Given the description of an element on the screen output the (x, y) to click on. 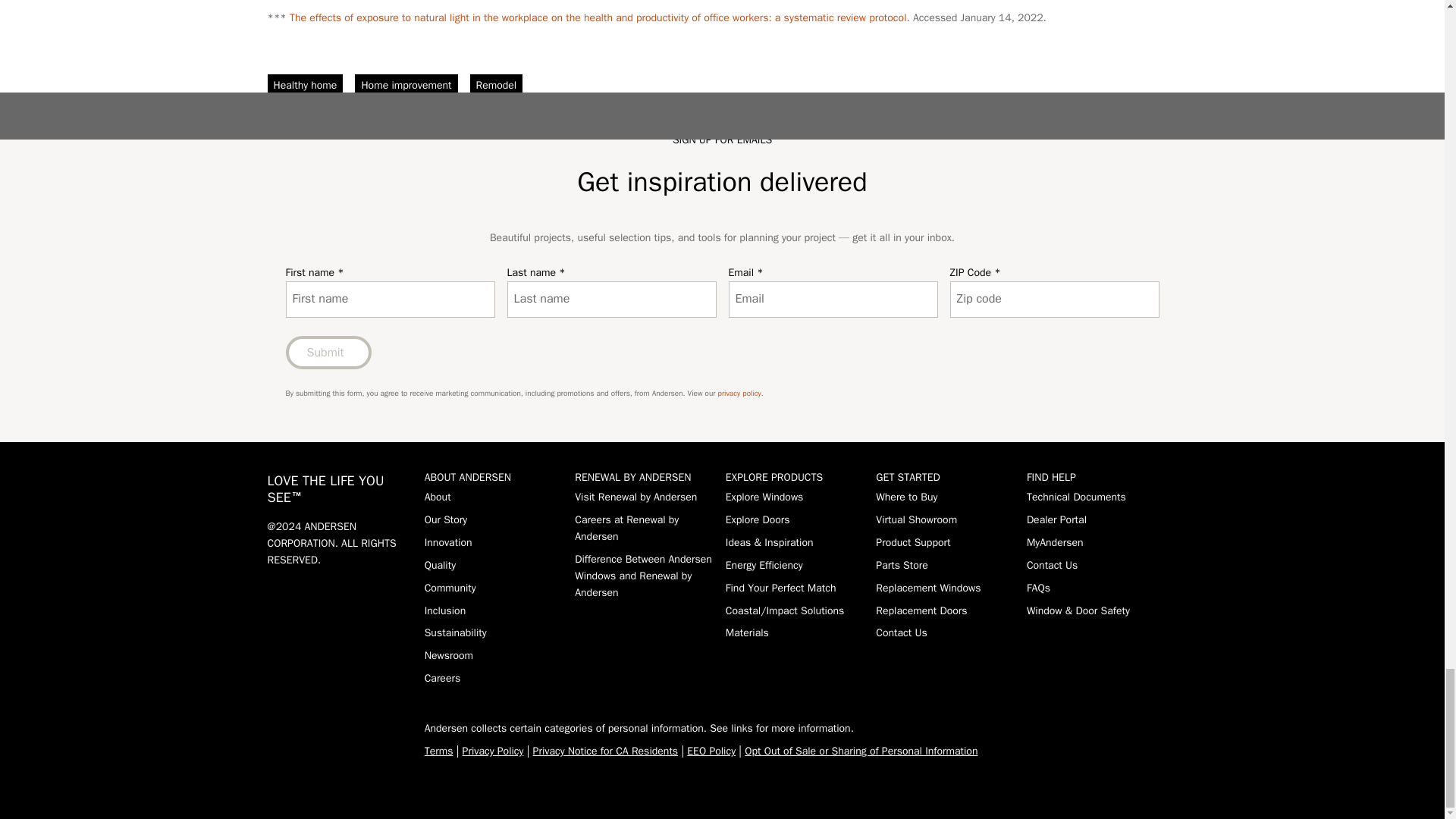
About (438, 496)
Healthy home (304, 85)
Our Story (446, 519)
Innovation (448, 542)
privacy policy (738, 393)
Careers (443, 677)
Quality (440, 564)
Inclusion (445, 610)
Sustainability (455, 632)
Submit (328, 352)
